Given the description of an element on the screen output the (x, y) to click on. 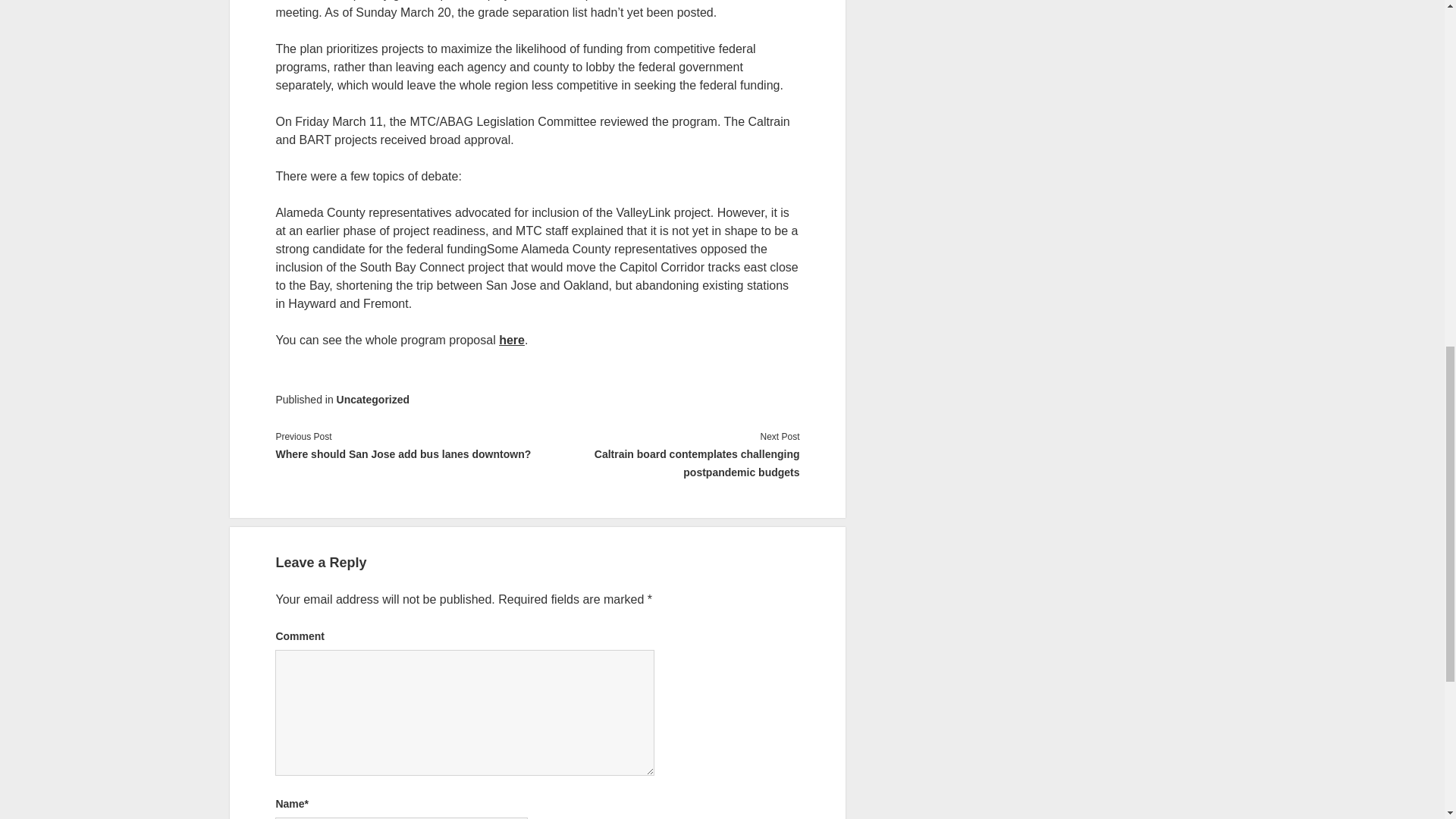
here (511, 339)
Where should San Jose add bus lanes downtown? (406, 454)
View all posts in Uncategorized (372, 399)
Uncategorized (372, 399)
Caltrain board contemplates challenging postpandemic budgets (668, 463)
